Given the description of an element on the screen output the (x, y) to click on. 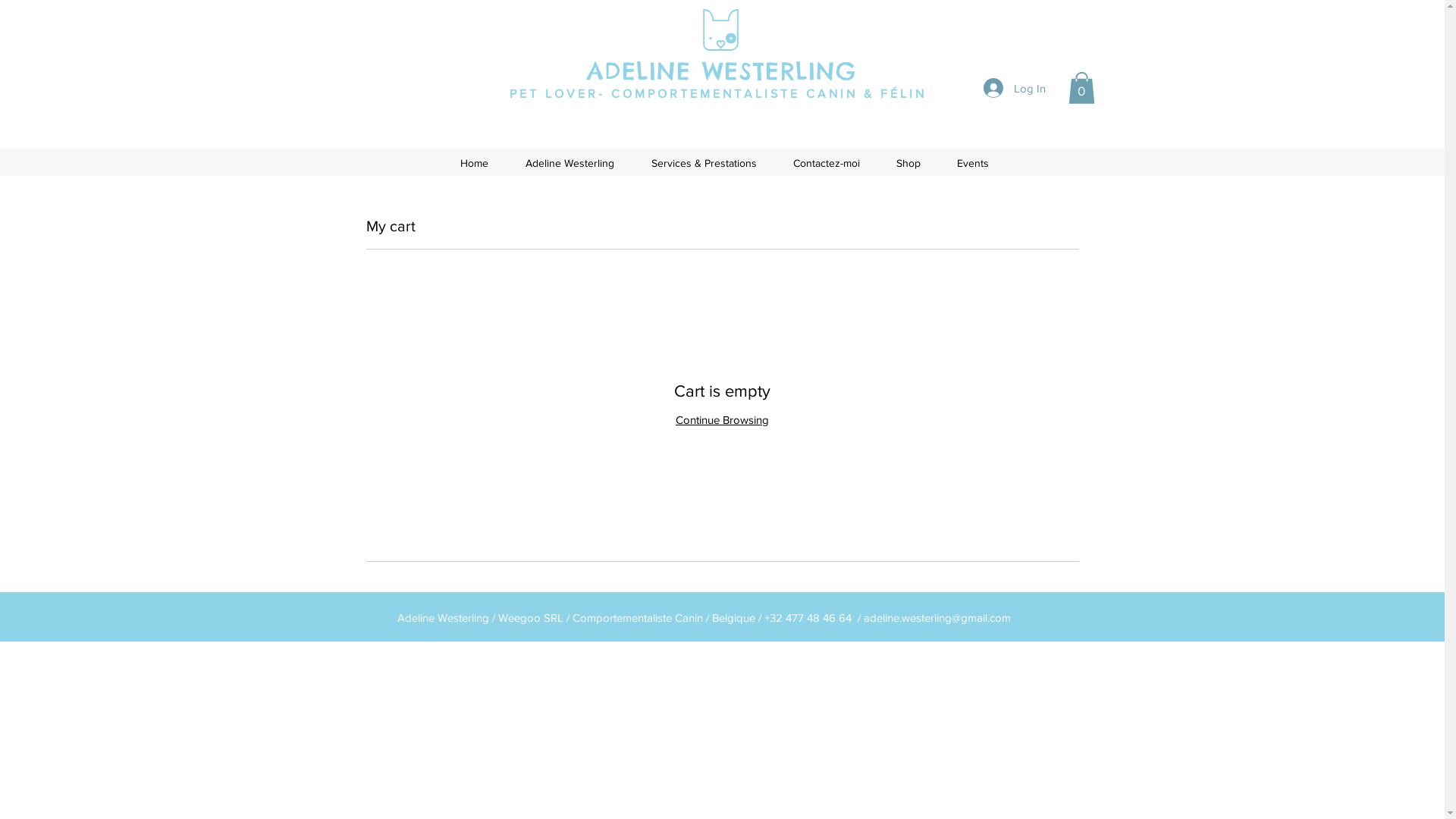
Shop Element type: text (908, 162)
ADELINE WESTERLING Element type: text (721, 70)
Contactez-moi Element type: text (826, 162)
0 Element type: text (1080, 87)
Services & Prestations Element type: text (703, 162)
Events Element type: text (972, 162)
Continue Browsing Element type: text (721, 419)
adeline.westerling@gmail.com Element type: text (936, 617)
Adeline Westerling Element type: text (569, 162)
Log In Element type: text (1013, 87)
Home Element type: text (473, 162)
